Given the description of an element on the screen output the (x, y) to click on. 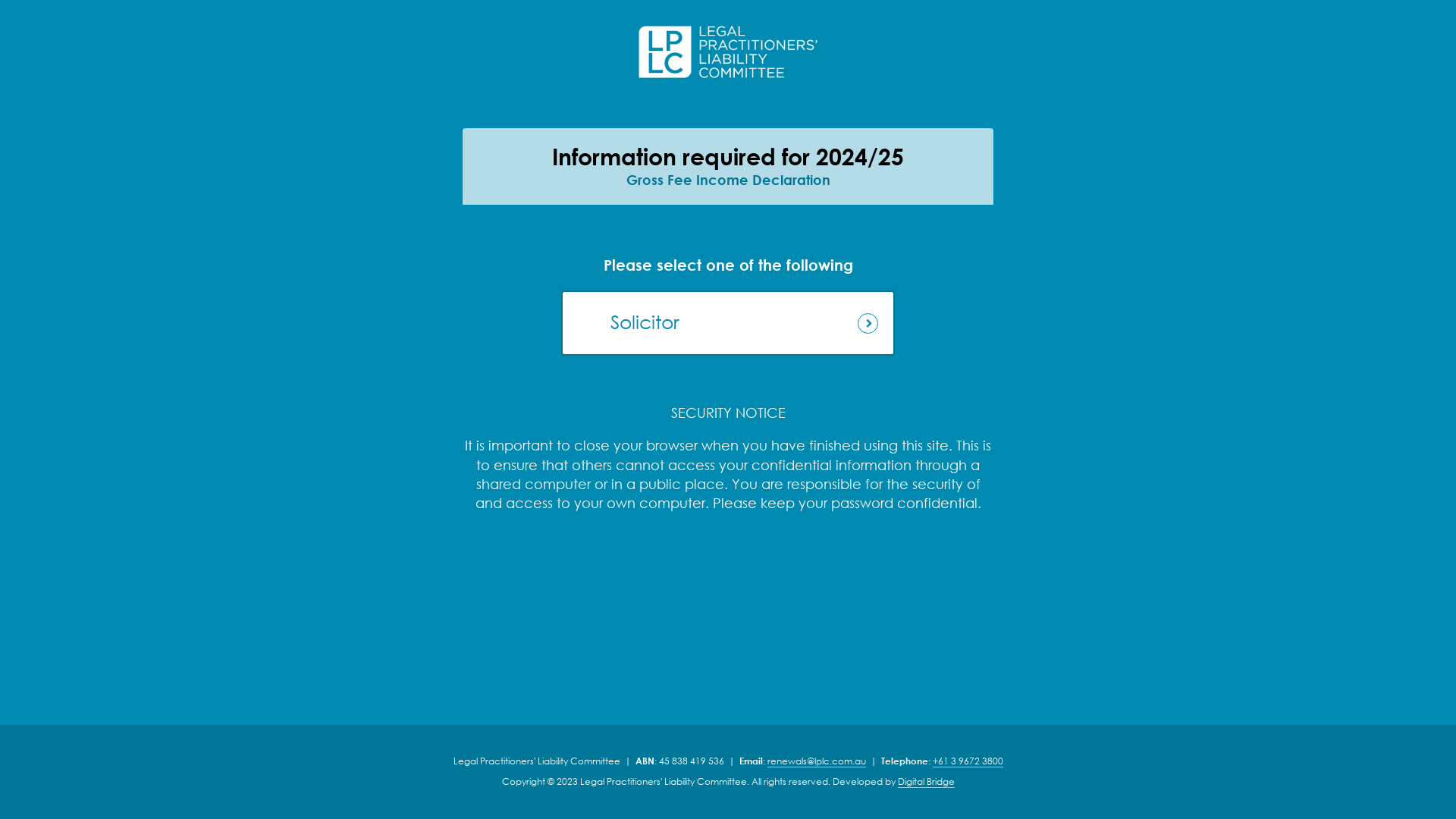
Digital Bridge Element type: text (925, 781)
renewals@lplc.com.au Element type: text (816, 761)
+61 3 9672 3800 Element type: text (967, 761)
Solicitor Element type: text (727, 322)
